Given the description of an element on the screen output the (x, y) to click on. 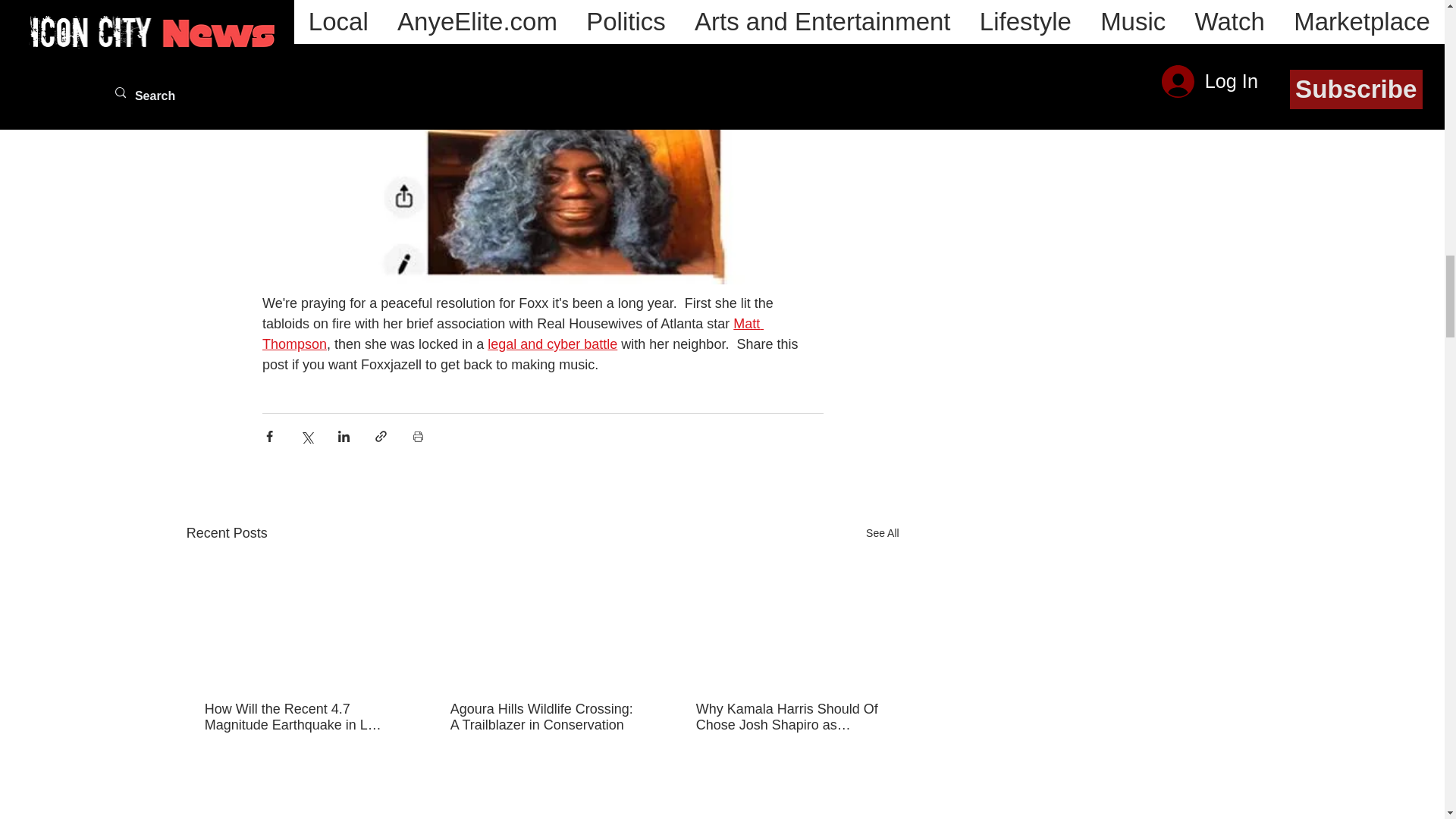
See All (882, 533)
Matt Thompson (512, 334)
legal and cyber battle (552, 344)
